Given the description of an element on the screen output the (x, y) to click on. 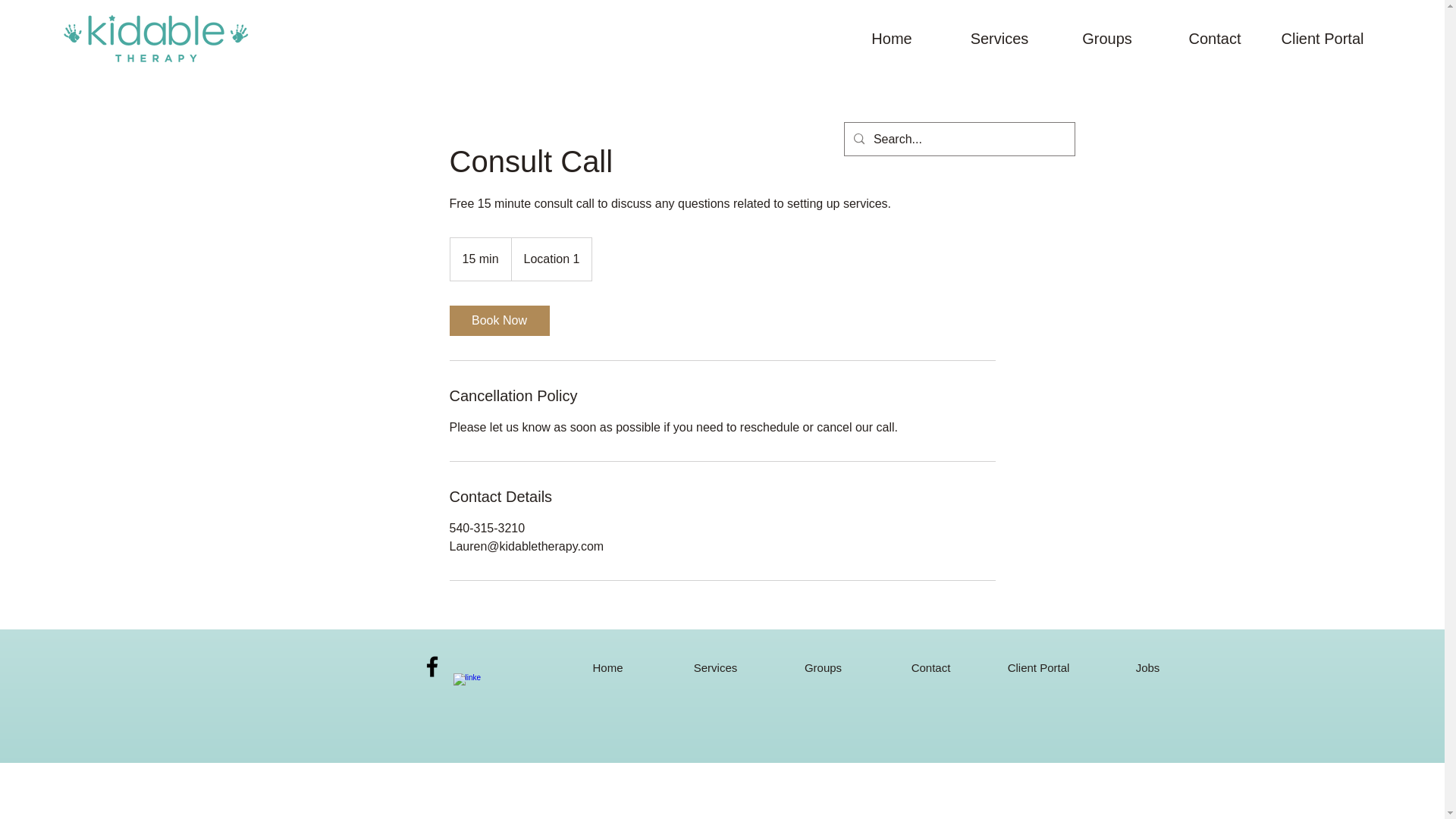
Client Portal (1321, 38)
Groups (1106, 38)
Client Portal (1038, 667)
Services (714, 667)
Contact (1214, 38)
Jobs (1147, 667)
Contact (930, 667)
Home (607, 667)
Services (998, 38)
Groups (822, 667)
Book Now (498, 320)
Home (891, 38)
